Given the description of an element on the screen output the (x, y) to click on. 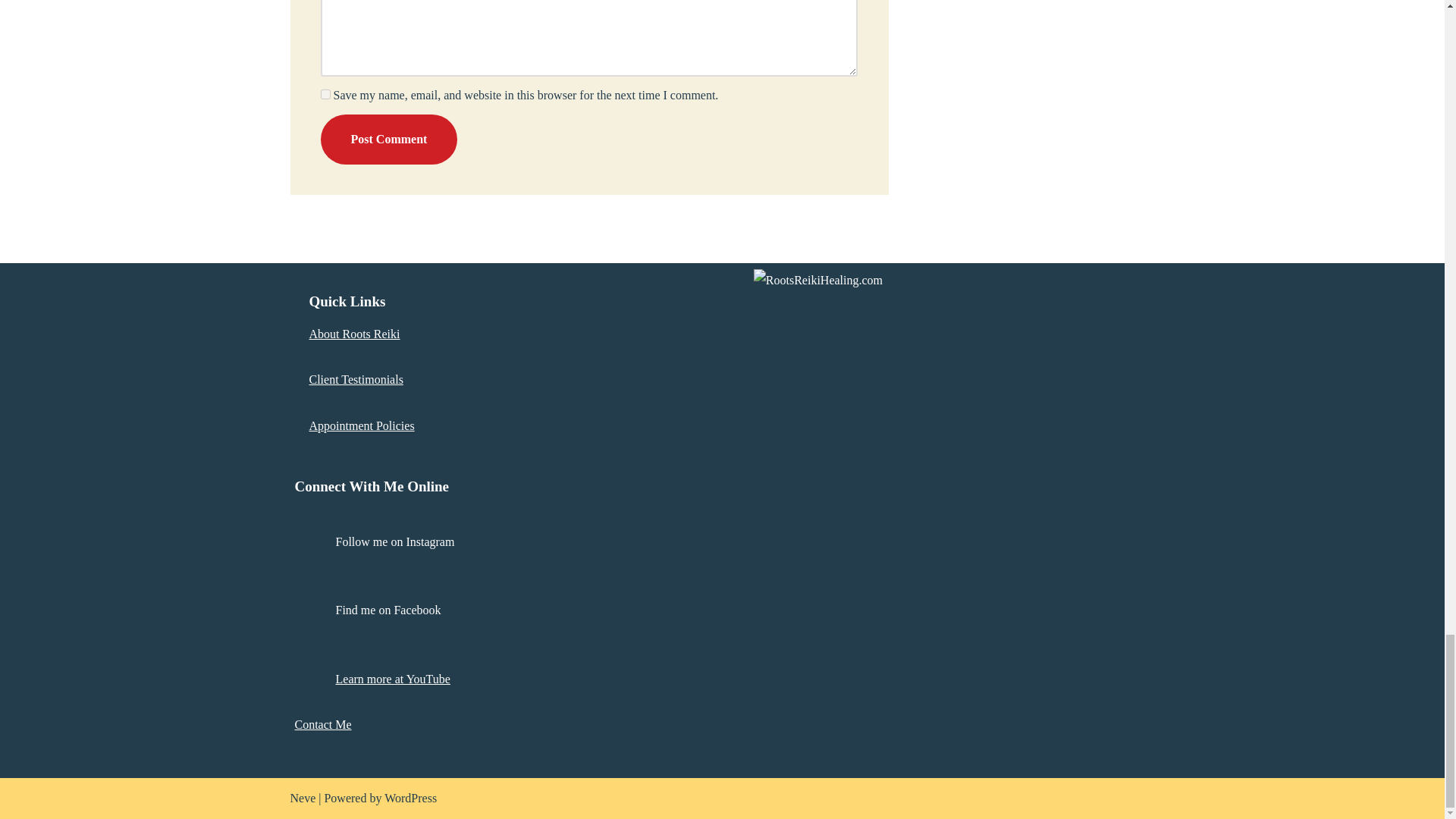
yes (325, 94)
Post Comment (388, 139)
